Given the description of an element on the screen output the (x, y) to click on. 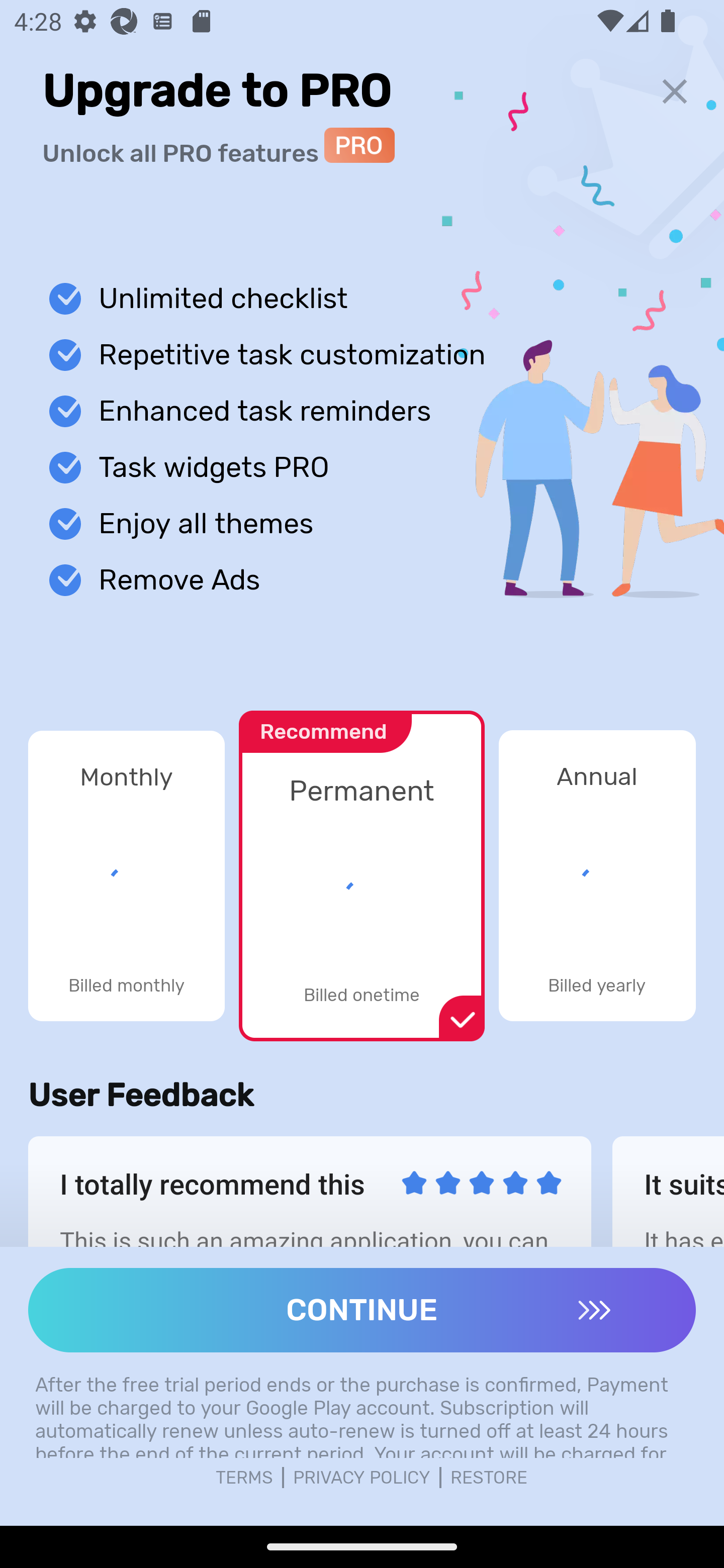
Recommend Permanent Billed onetime (361, 865)
Annual Billed yearly (596, 875)
Monthly Billed monthly (126, 875)
CONTINUE (361, 1309)
RESTORE (489, 1477)
